Given the description of an element on the screen output the (x, y) to click on. 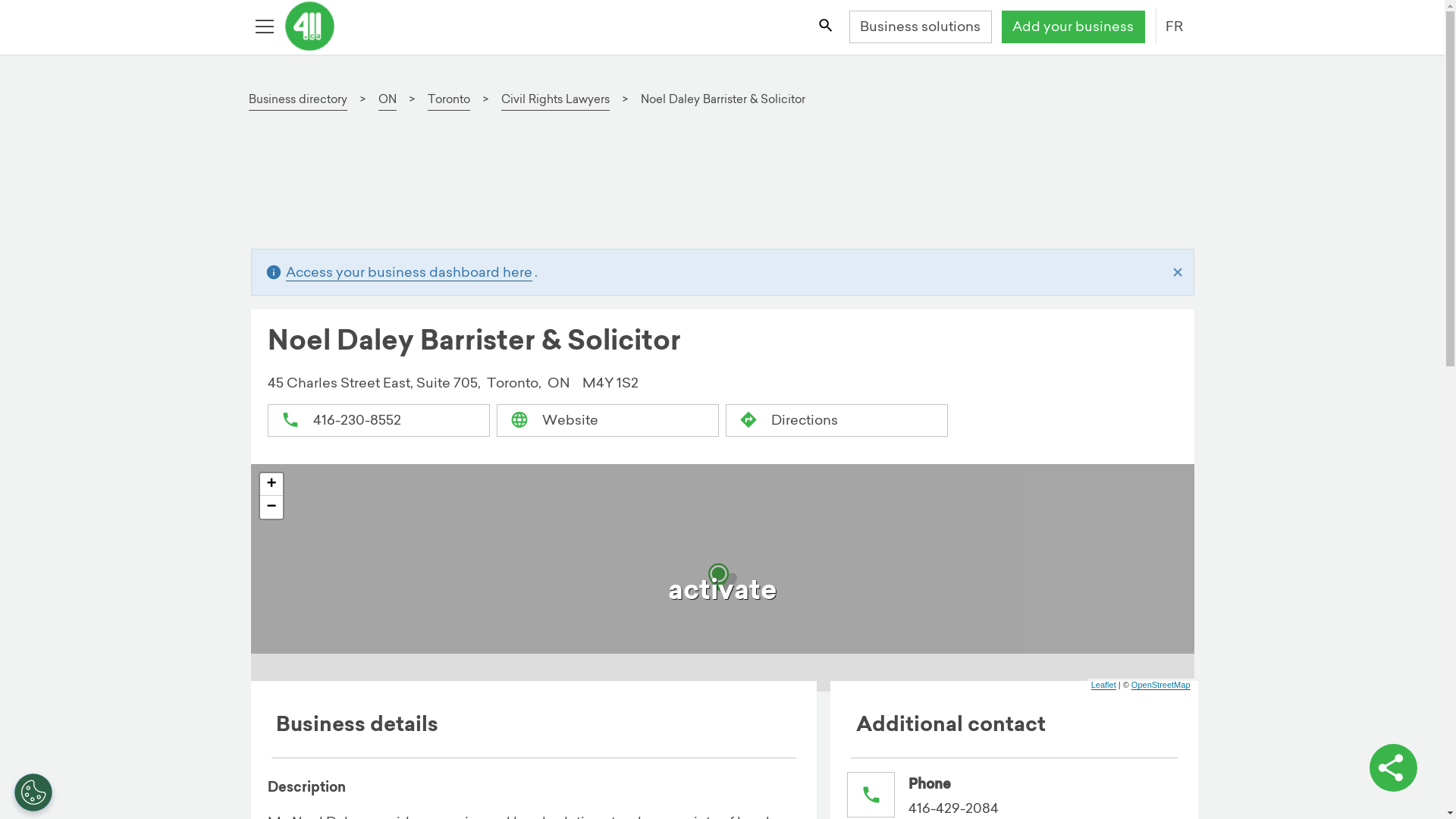
Leaflet Element type: text (1103, 685)
Add your business Element type: text (1072, 26)
+ Element type: text (270, 484)
Toronto Element type: text (448, 99)
Custom Settings Element type: hover (33, 792)
Website Element type: text (607, 420)
Access your business dashboard here Element type: text (408, 272)
Business solutions Element type: text (920, 26)
Civil Rights Lawyers Element type: text (555, 99)
Advertisement Element type: hover (715, 187)
OpenStreetMap Element type: text (1160, 685)
416-230-8552 Element type: text (378, 420)
Directions Element type: text (836, 420)
ON Element type: text (387, 99)
FR Element type: text (1173, 26)
Business directory Element type: text (297, 99)
